Given the description of an element on the screen output the (x, y) to click on. 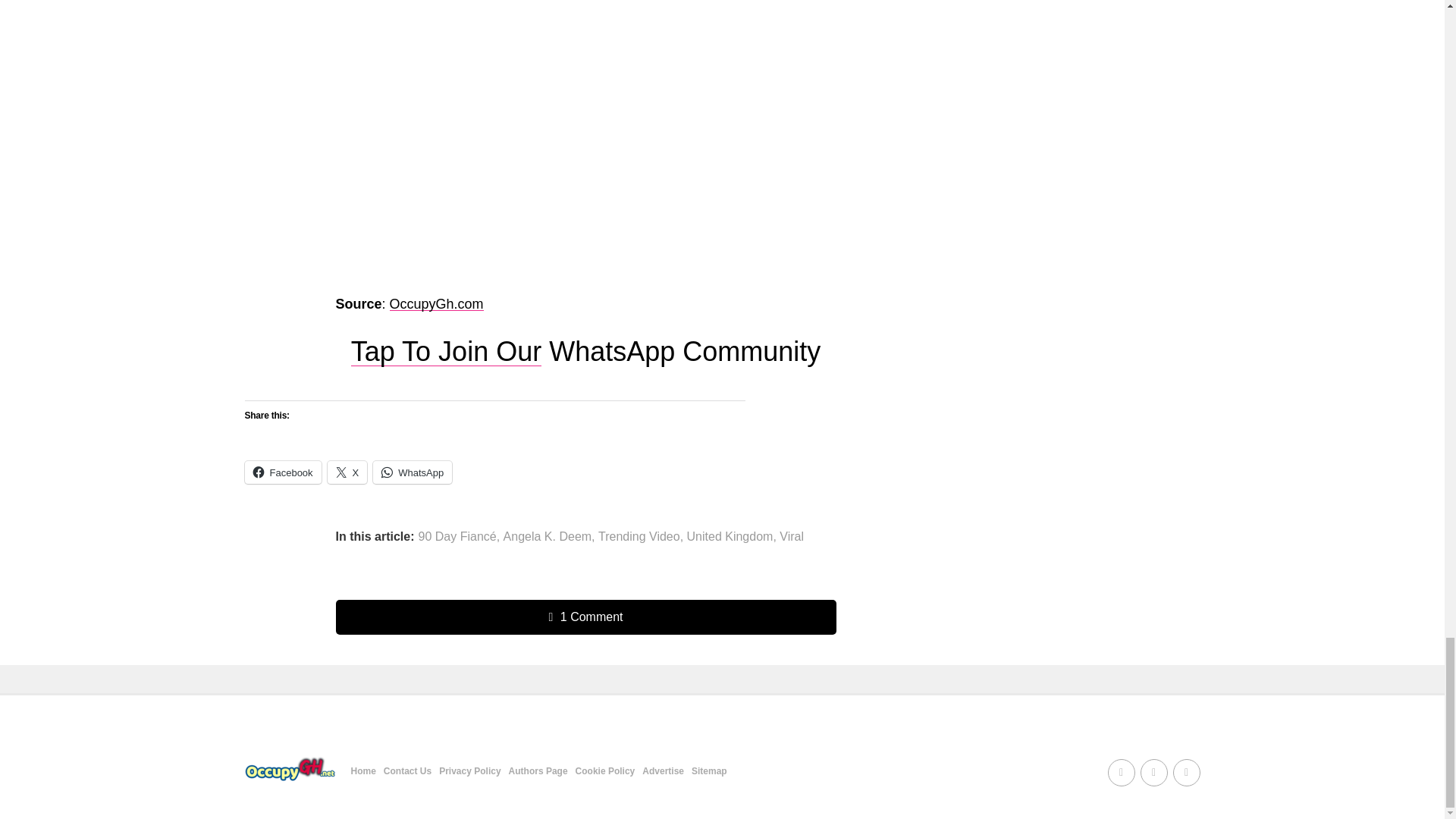
OccupyGh.com (436, 304)
Tap To Join Our (445, 350)
WhatsApp (411, 472)
Trending Video (638, 536)
Click to share on WhatsApp (411, 472)
Click to share on Facebook (282, 472)
Angela K. Deem (547, 536)
X (347, 472)
United Kingdom (730, 536)
Viral (790, 536)
Click to share on X (347, 472)
Facebook (282, 472)
